Given the description of an element on the screen output the (x, y) to click on. 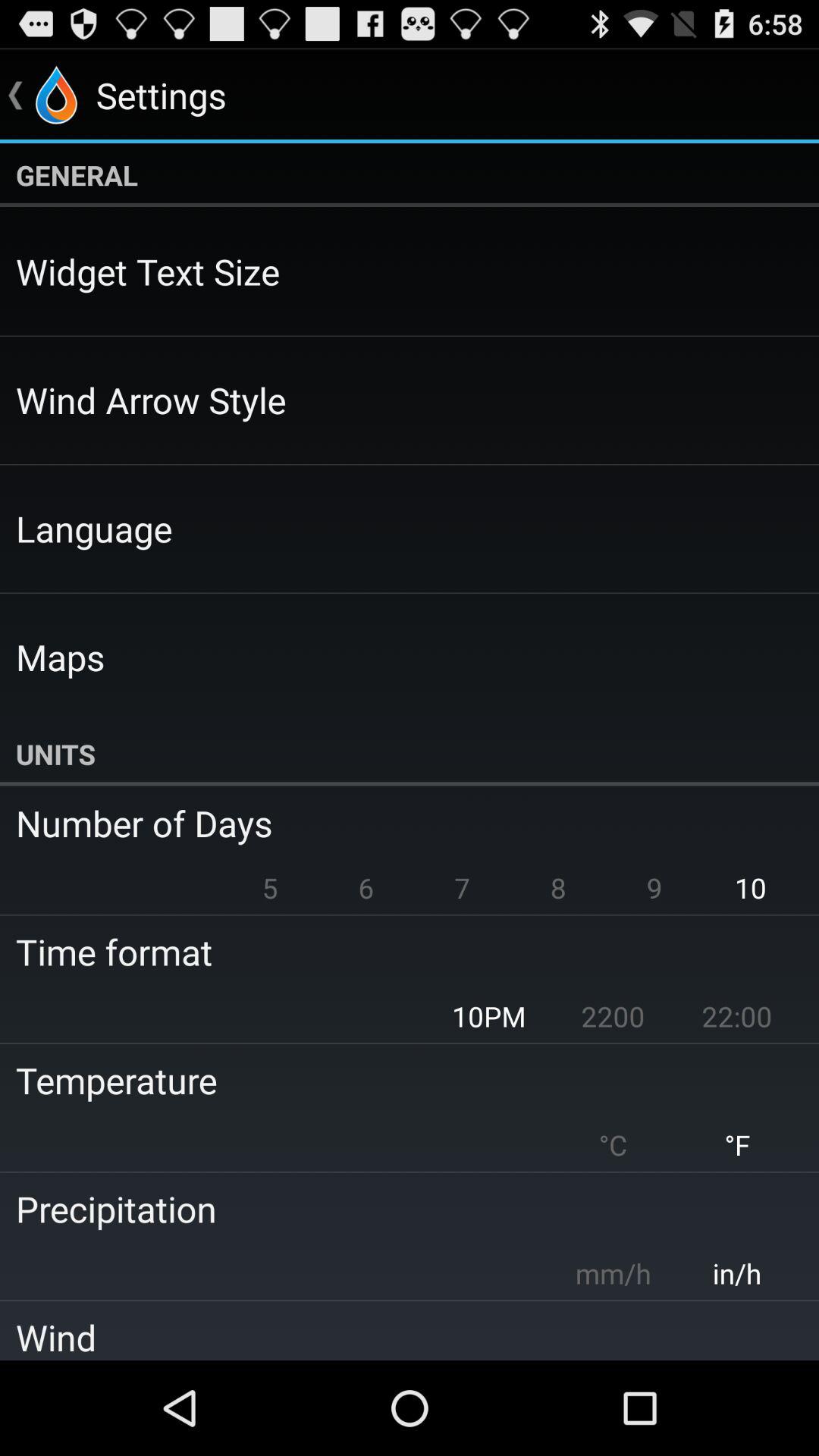
turn on the app to the left of the 22:00 app (613, 1016)
